Given the description of an element on the screen output the (x, y) to click on. 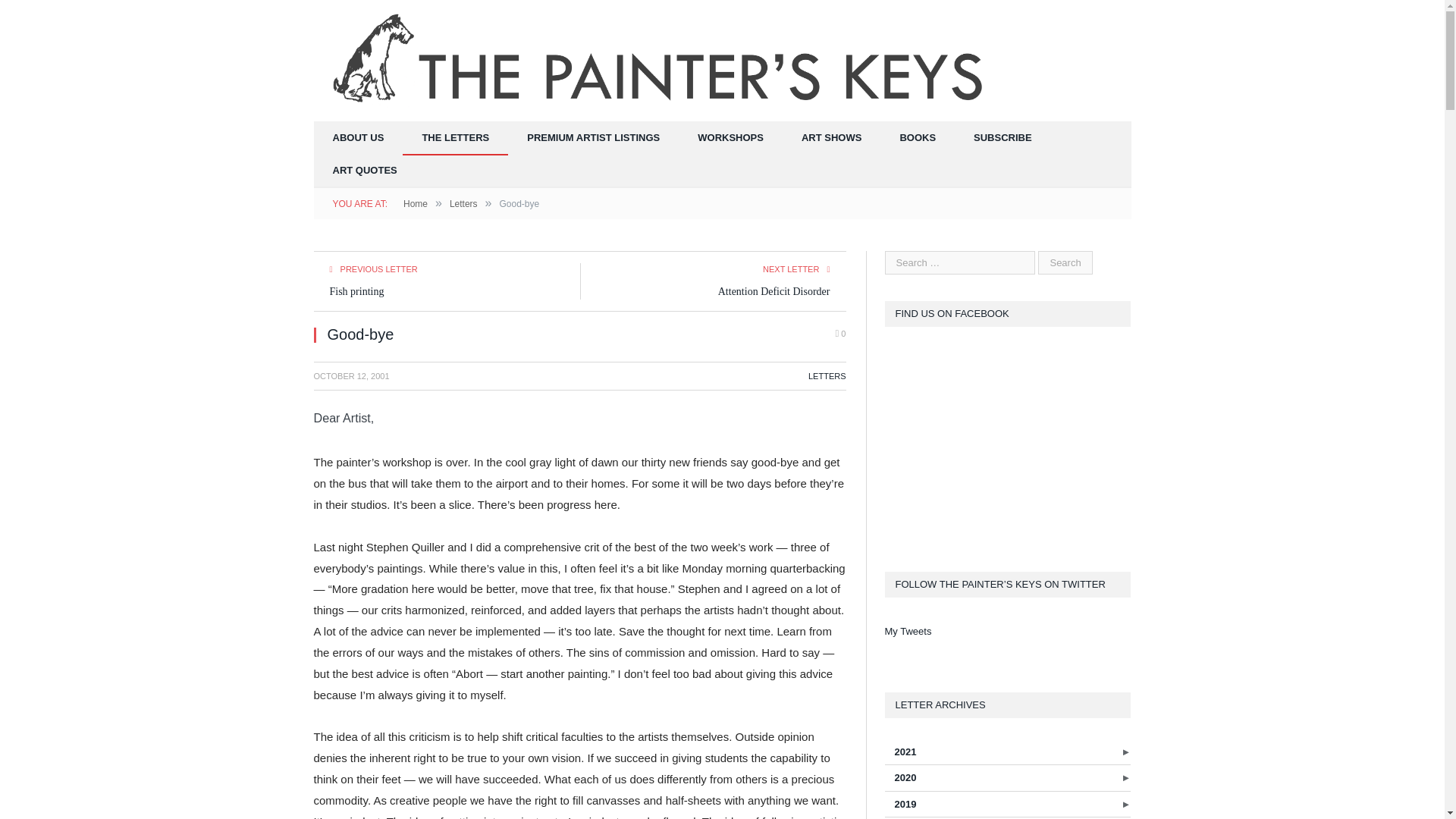
The Painters Keys (661, 58)
2001-10-12 (352, 375)
ART QUOTES (365, 170)
Attention Deficit Disorder (773, 291)
Fish printing (356, 291)
WORKSHOPS (730, 138)
PREMIUM ARTIST LISTINGS (593, 138)
Home (415, 204)
ABOUT US (358, 138)
ART SHOWS (831, 138)
SUBSCRIBE (1003, 138)
BOOKS (917, 138)
Search (1065, 262)
Letters (463, 204)
Search (1065, 262)
